Given the description of an element on the screen output the (x, y) to click on. 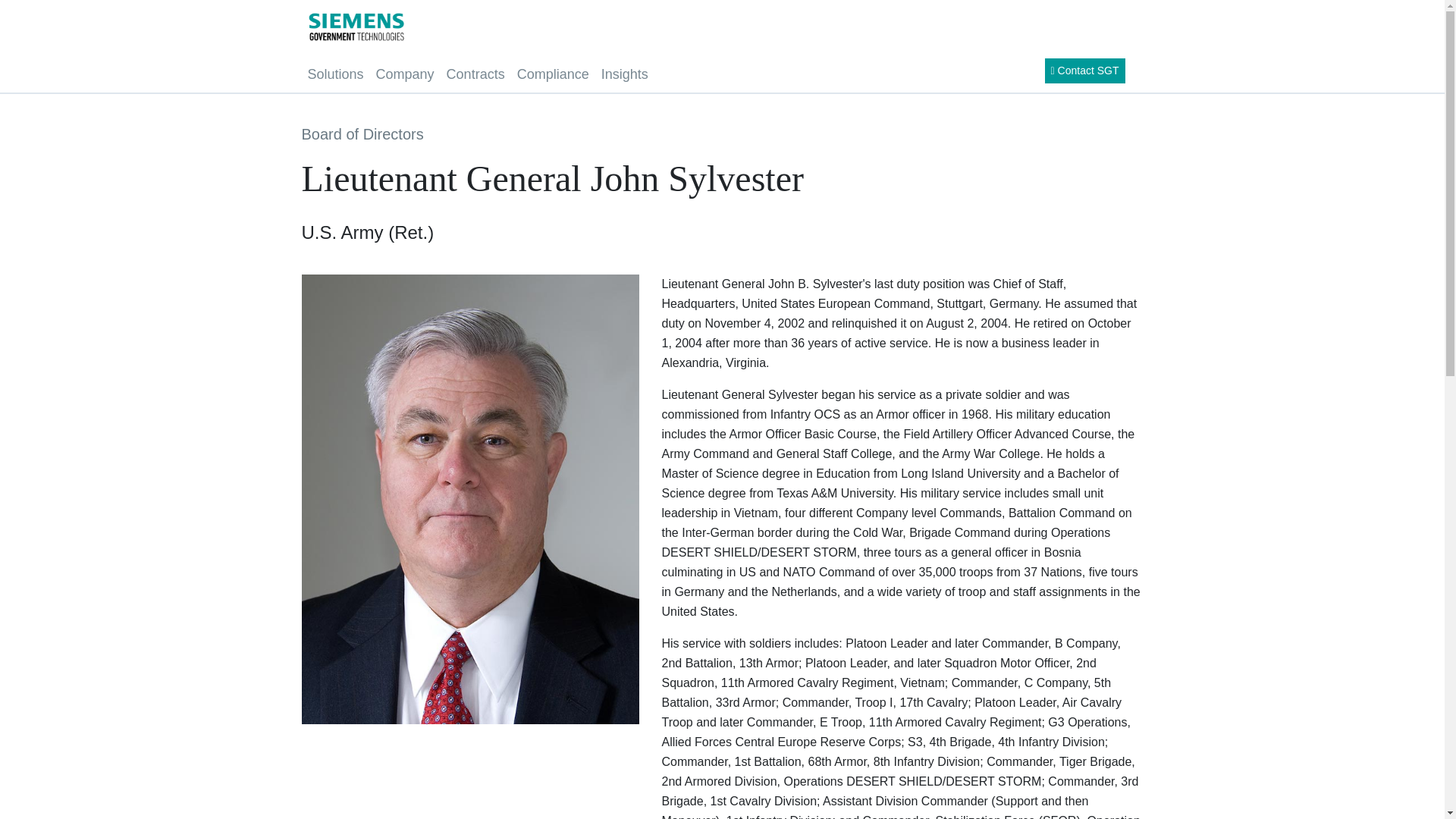
Insights (624, 72)
Contact SGT (1085, 70)
Compliance (553, 72)
Contracts (476, 72)
Company (405, 72)
